Given the description of an element on the screen output the (x, y) to click on. 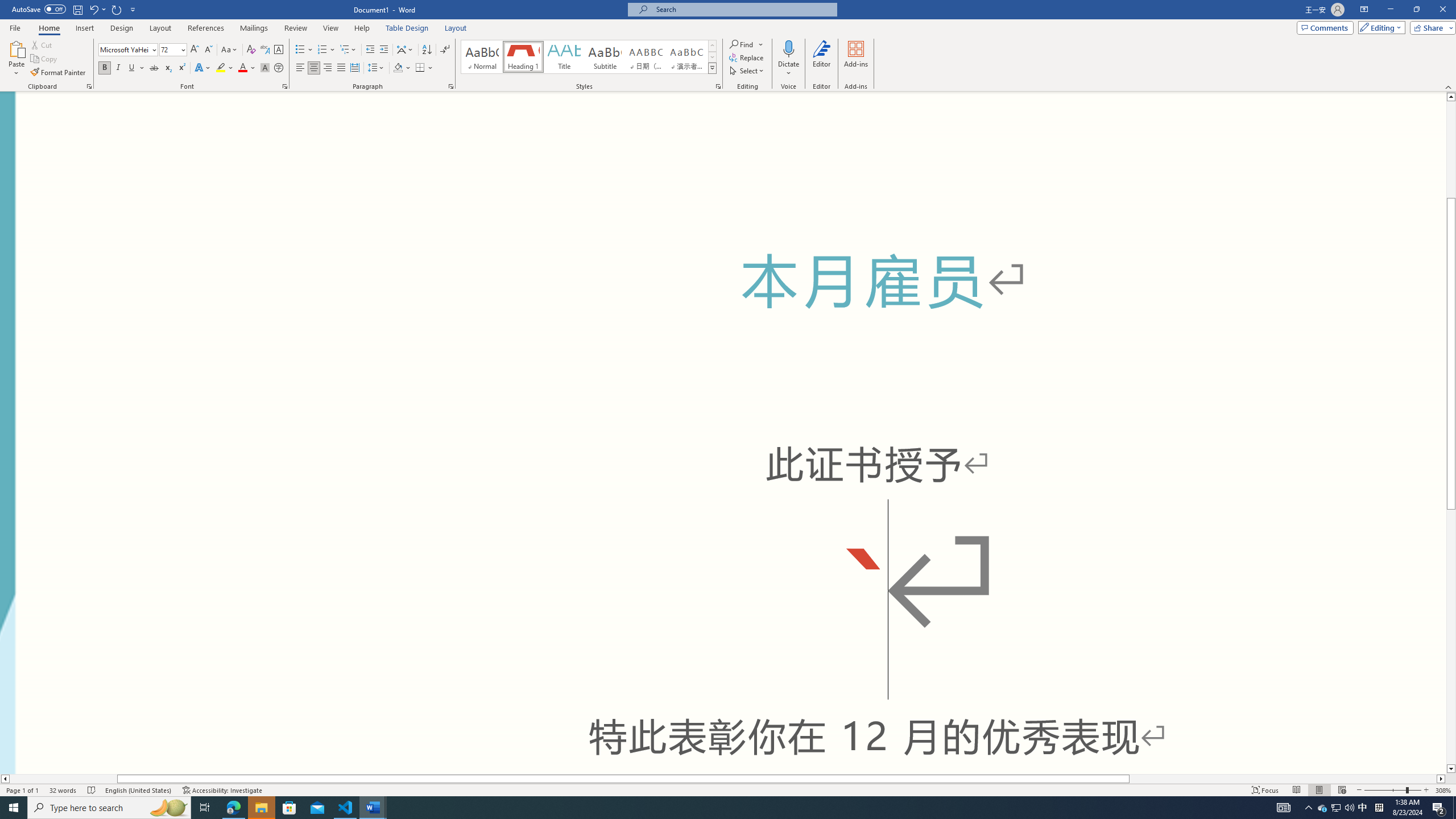
System (6, 6)
Font Color Red (241, 67)
Shading (402, 67)
Microsoft search (742, 9)
Superscript (180, 67)
Styles (711, 67)
Numbering (326, 49)
Justify (340, 67)
Text Highlight Color (224, 67)
Dictate (788, 48)
Font (128, 49)
Clear Formatting (250, 49)
Column right (1441, 778)
Decrease Indent (370, 49)
